Given the description of an element on the screen output the (x, y) to click on. 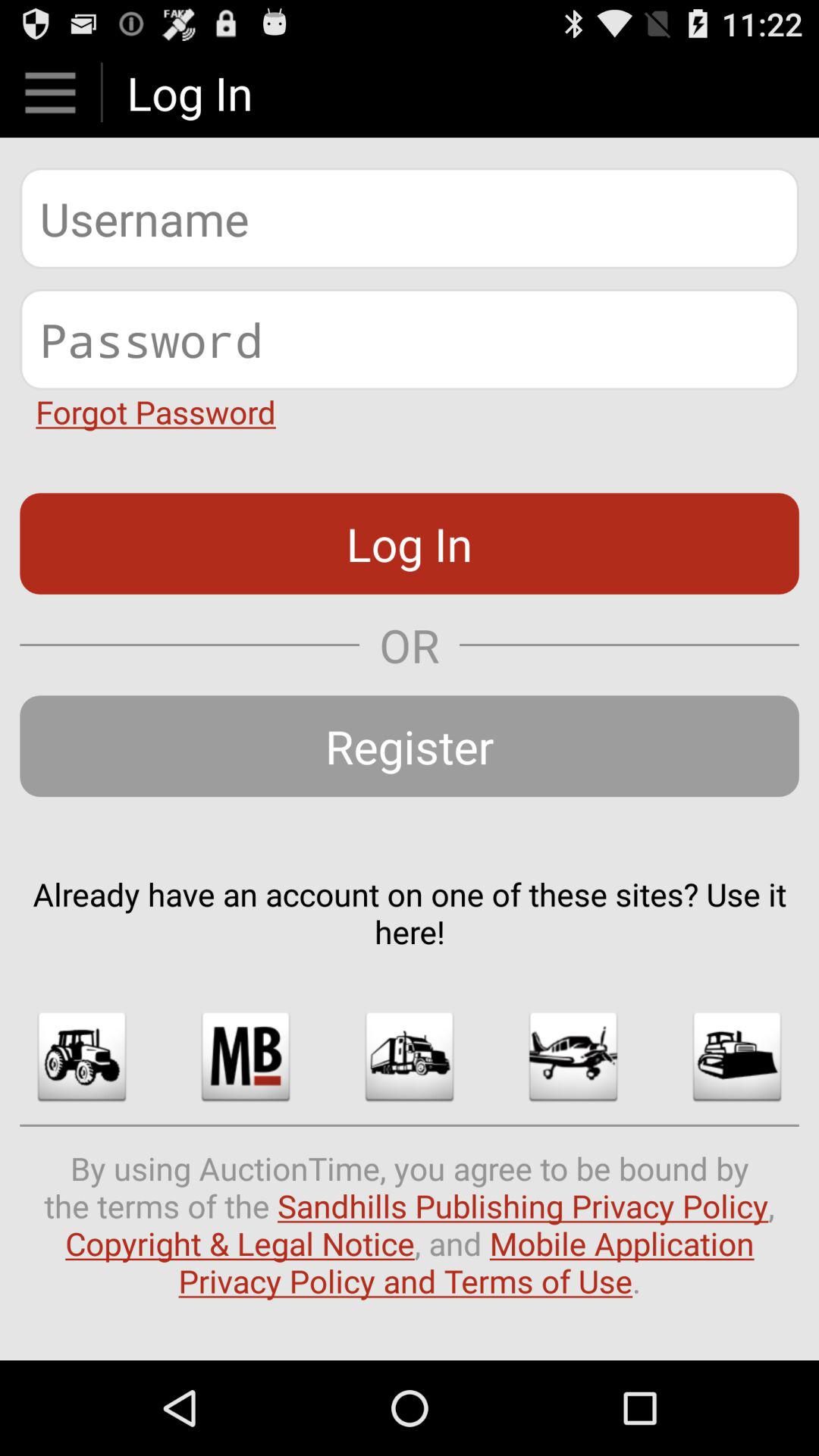
open the item above log in button (155, 411)
